Given the description of an element on the screen output the (x, y) to click on. 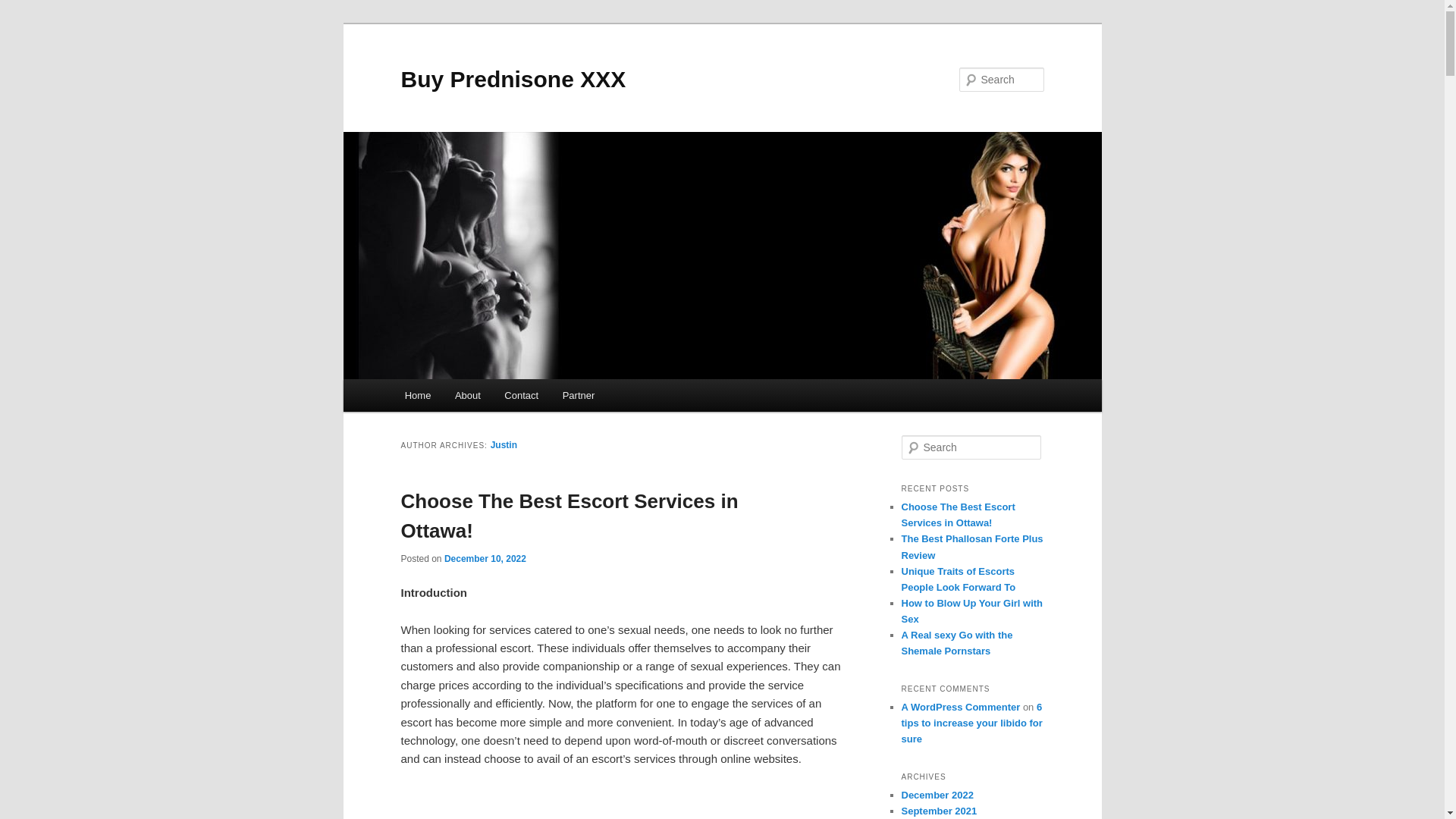
Partner (578, 395)
About (467, 395)
Buy Prednisone XXX (513, 78)
Choose The Best Escort Services in Ottawa! (569, 515)
11:58 am (484, 558)
Justin (503, 444)
December 10, 2022 (484, 558)
Search (24, 8)
Home (417, 395)
